Given the description of an element on the screen output the (x, y) to click on. 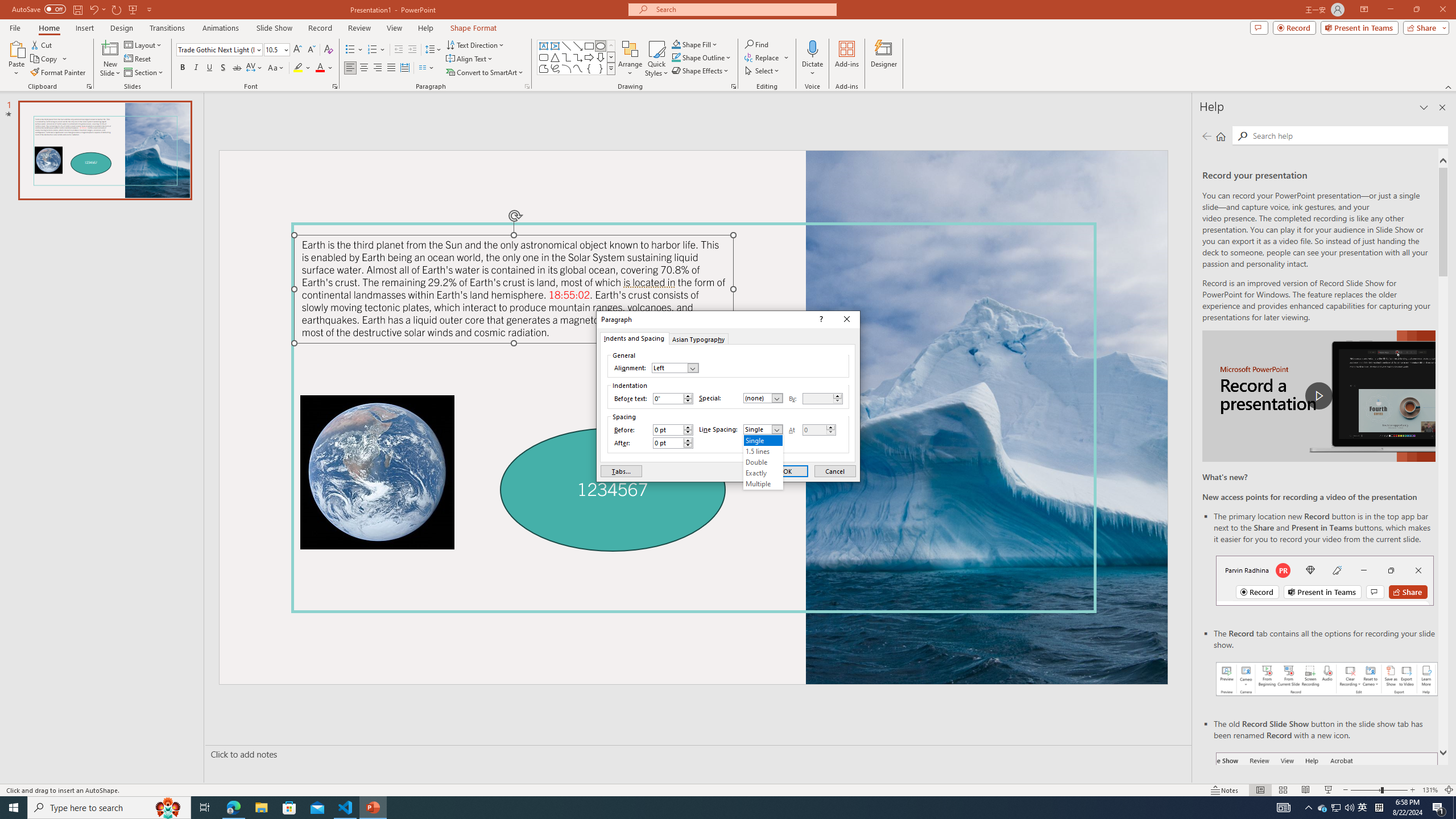
At (818, 429)
After (672, 442)
